Given the description of an element on the screen output the (x, y) to click on. 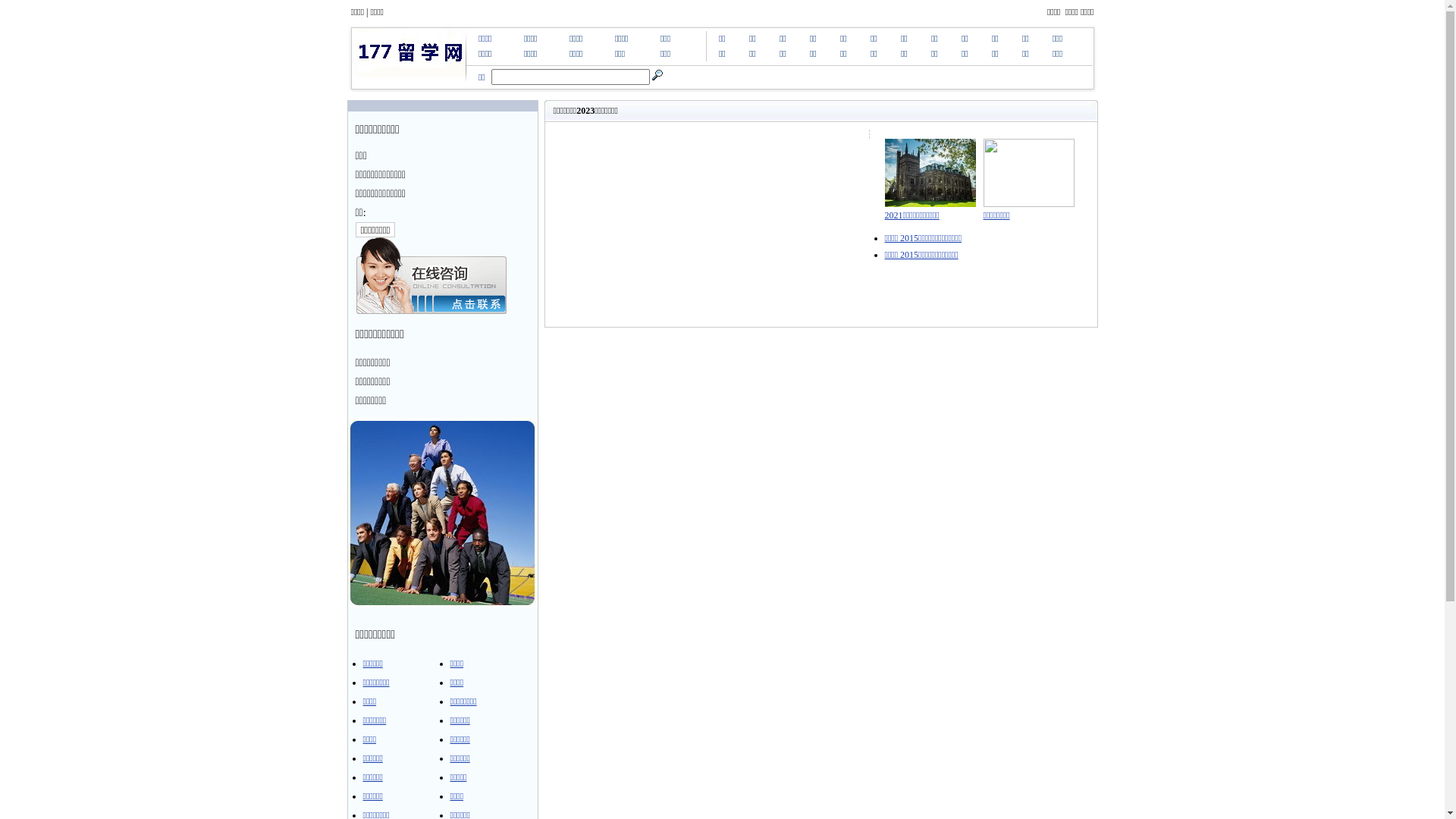
Advertisement Element type: hover (820, 369)
